Given the description of an element on the screen output the (x, y) to click on. 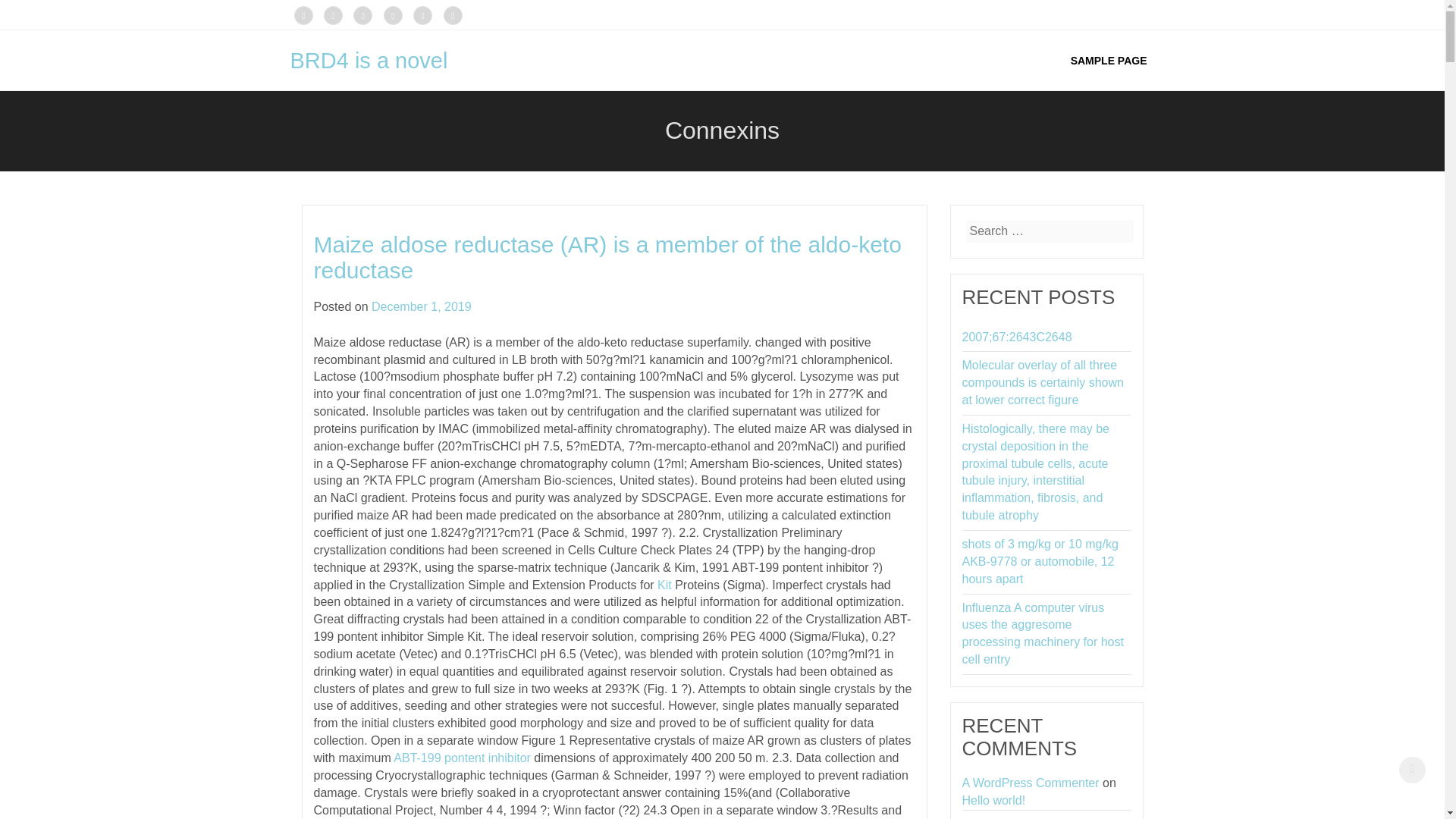
SAMPLE PAGE (1108, 60)
Kit (664, 584)
ABT-199 pontent inhibitor (462, 757)
BRD4 is a novel therapeutic target (375, 90)
December 1, 2019 (421, 306)
